Given the description of an element on the screen output the (x, y) to click on. 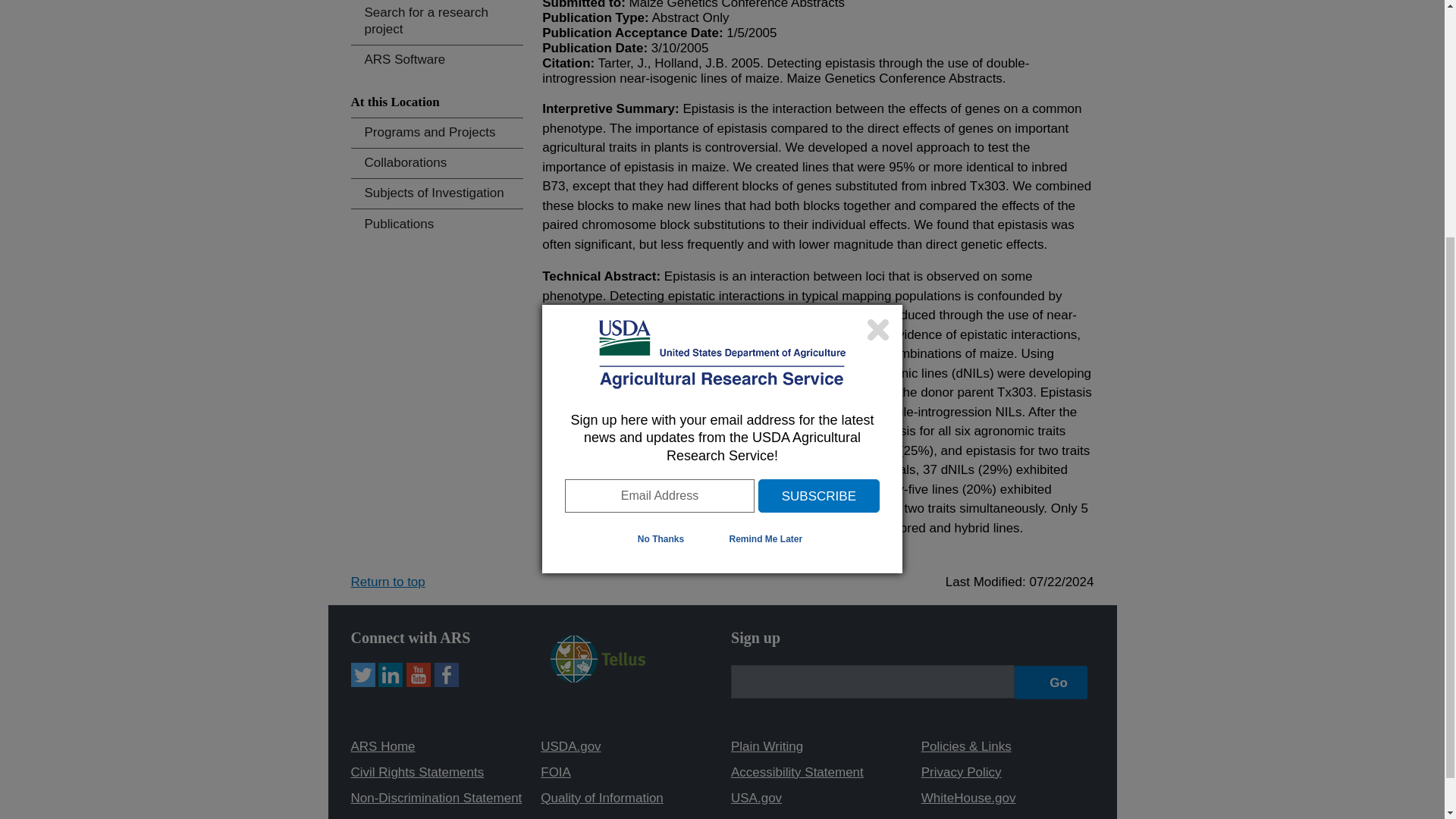
Collaborations (436, 163)
Subscribe (818, 153)
Go (1050, 682)
Email Address (659, 153)
Search for a research project (436, 22)
Facebook Icon (445, 674)
ARS Software (436, 60)
Tellus (597, 658)
Programs and Projects (436, 132)
Youtube (418, 674)
Twitter (362, 674)
LinkedIn (390, 674)
Publications (436, 224)
Subjects of Investigation (436, 193)
email (872, 681)
